Given the description of an element on the screen output the (x, y) to click on. 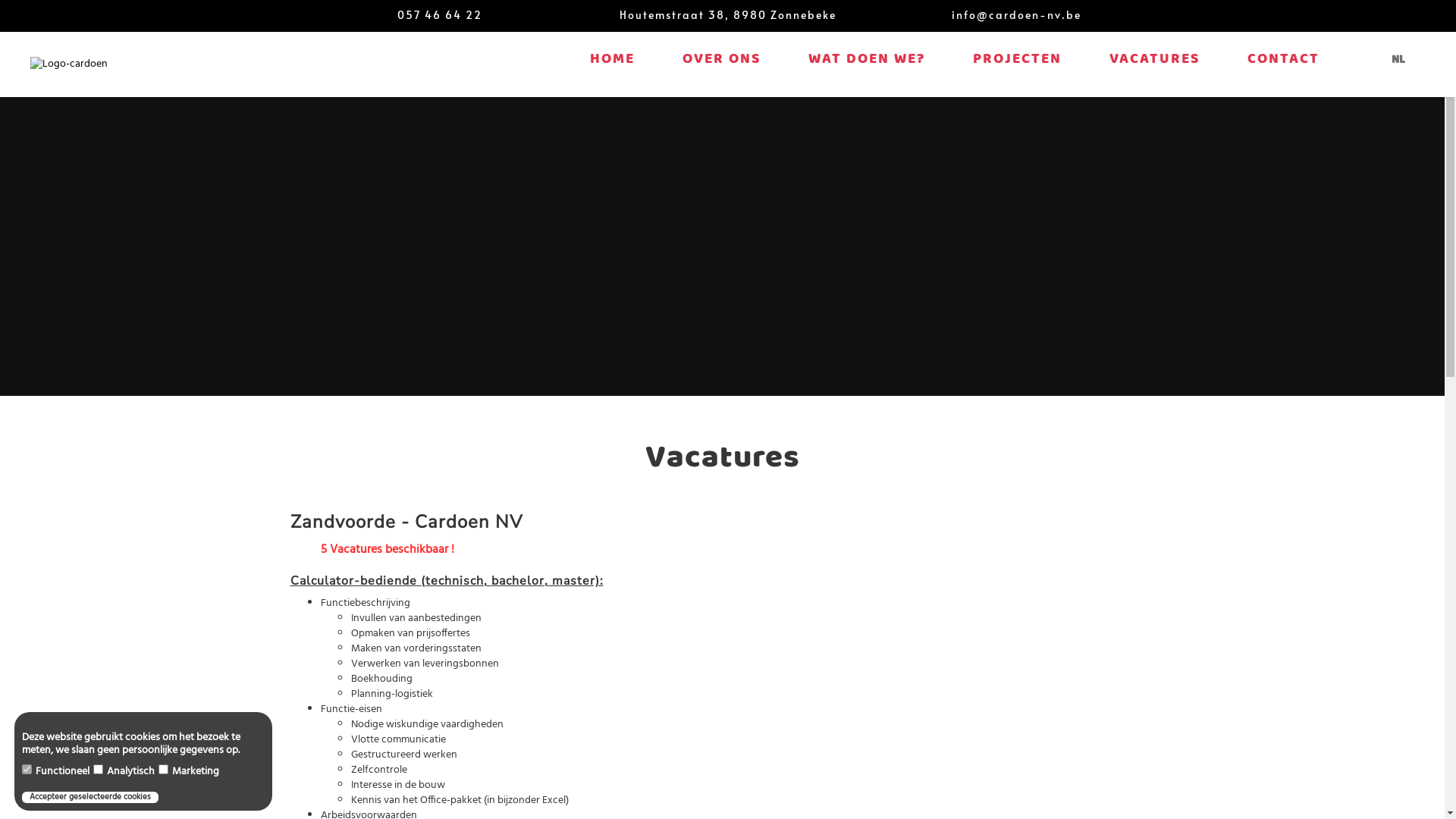
VACATURES Element type: text (1154, 59)
OVER ONS Element type: text (721, 59)
WAT DOEN WE? Element type: text (866, 59)
PROJECTEN Element type: text (1017, 59)
HOME Element type: text (612, 59)
057 46 64 22 Element type: text (439, 14)
info@cardoen-nv.be Element type: text (1015, 14)
NL Element type: text (1398, 60)
CONTACT Element type: text (1283, 59)
Houtemstraat 38, 8980 Zonnebeke Element type: text (727, 14)
